Given the description of an element on the screen output the (x, y) to click on. 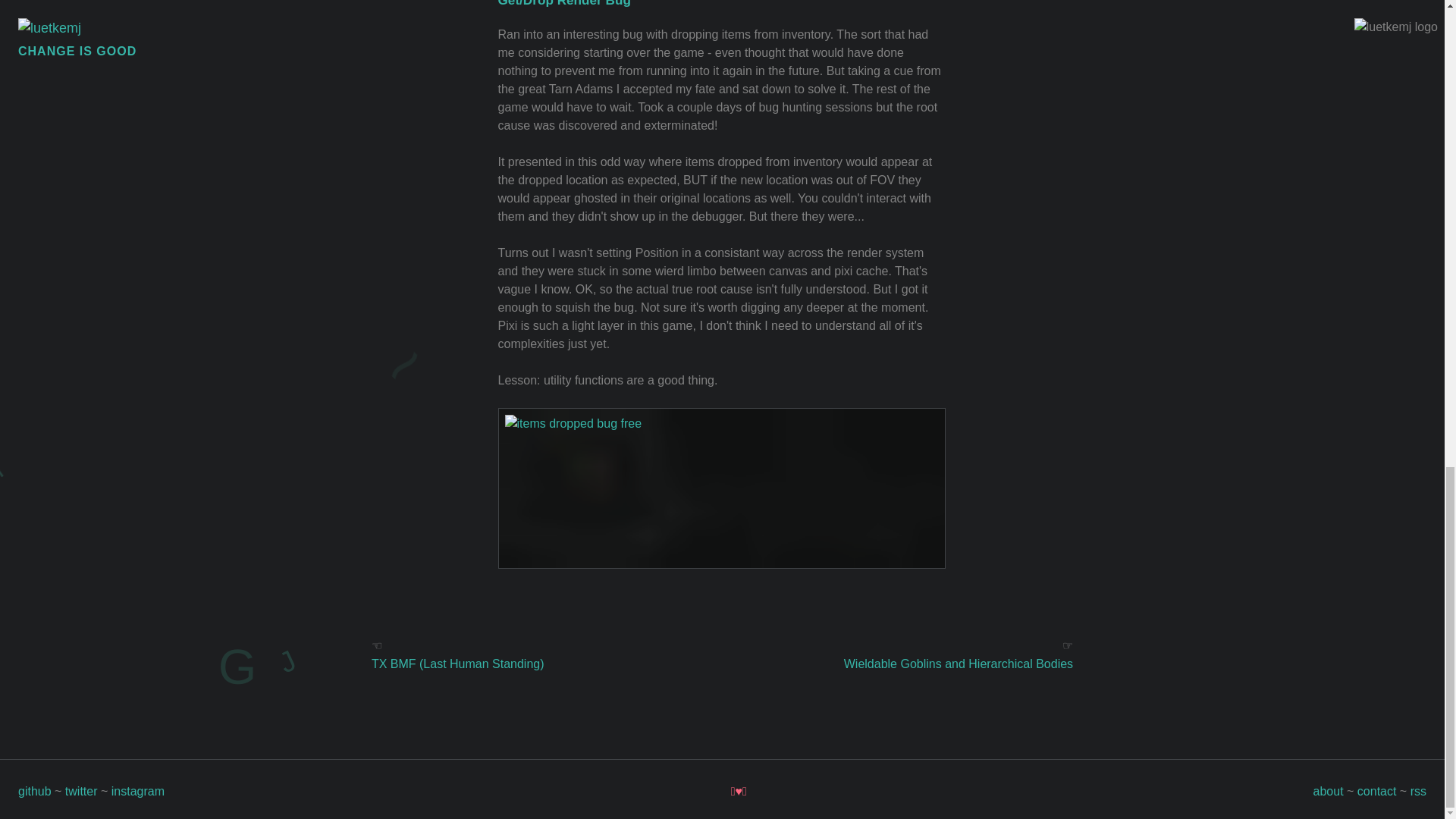
items dropped bug free (720, 487)
about (1328, 790)
twitter (81, 790)
contact (1376, 790)
github (33, 790)
instagram (138, 790)
Wieldable Goblins and Hierarchical Bodies (958, 663)
rss (1418, 790)
